Given the description of an element on the screen output the (x, y) to click on. 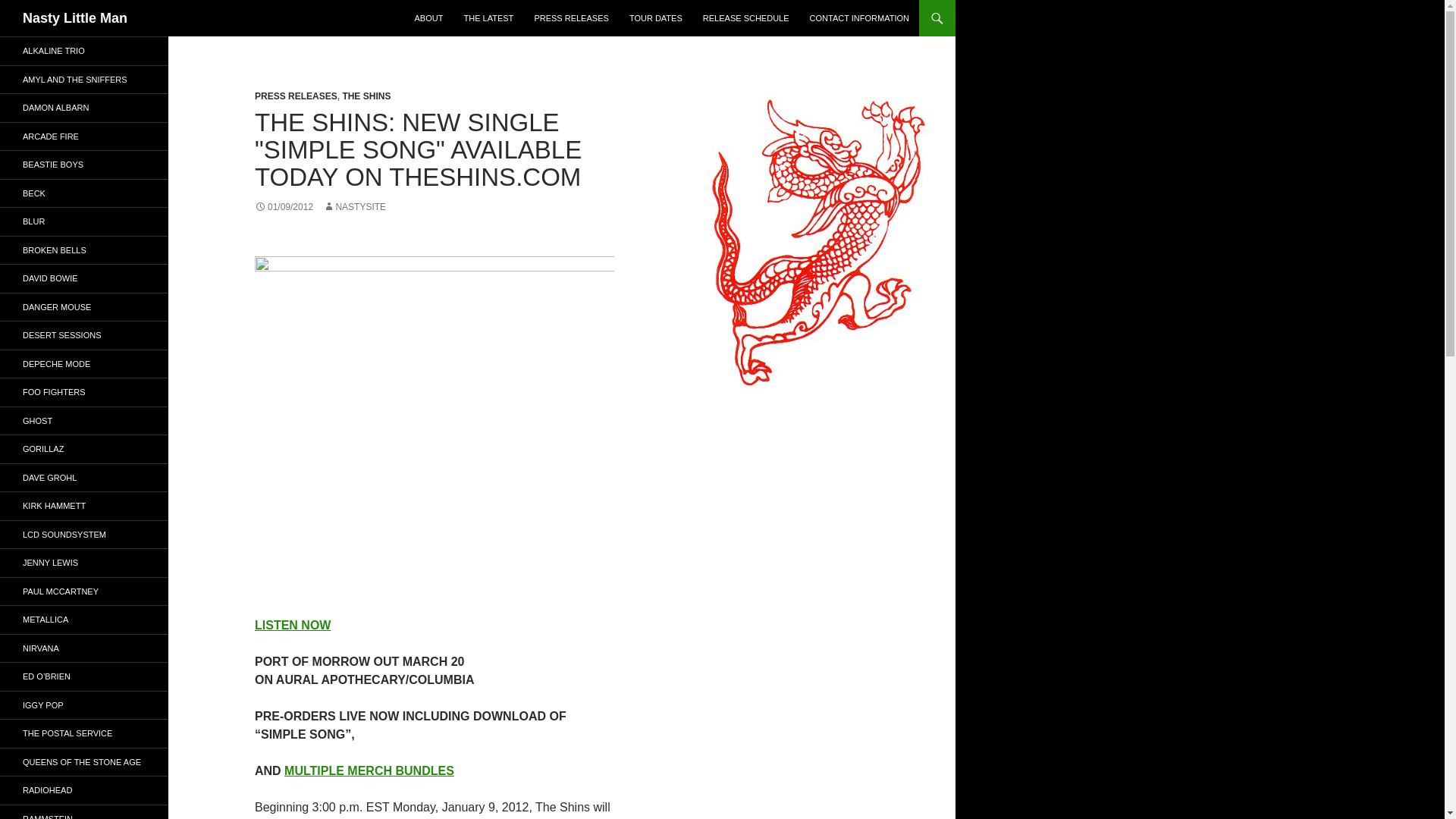
DAVID BOWIE (84, 278)
Nasty Little Man (75, 18)
GHOST (84, 420)
THE SHINS (366, 95)
FOO FIGHTERS (84, 392)
AMYL AND THE SNIFFERS (84, 79)
GORILLAZ (84, 448)
DANGER MOUSE (84, 306)
shins-player (434, 427)
ALKALINE TRIO (84, 50)
DEPECHE MODE (84, 364)
DAMON ALBARN (84, 108)
BLUR (84, 221)
ABOUT (429, 18)
MULTIPLE MERCH BUNDLES (368, 770)
